Given the description of an element on the screen output the (x, y) to click on. 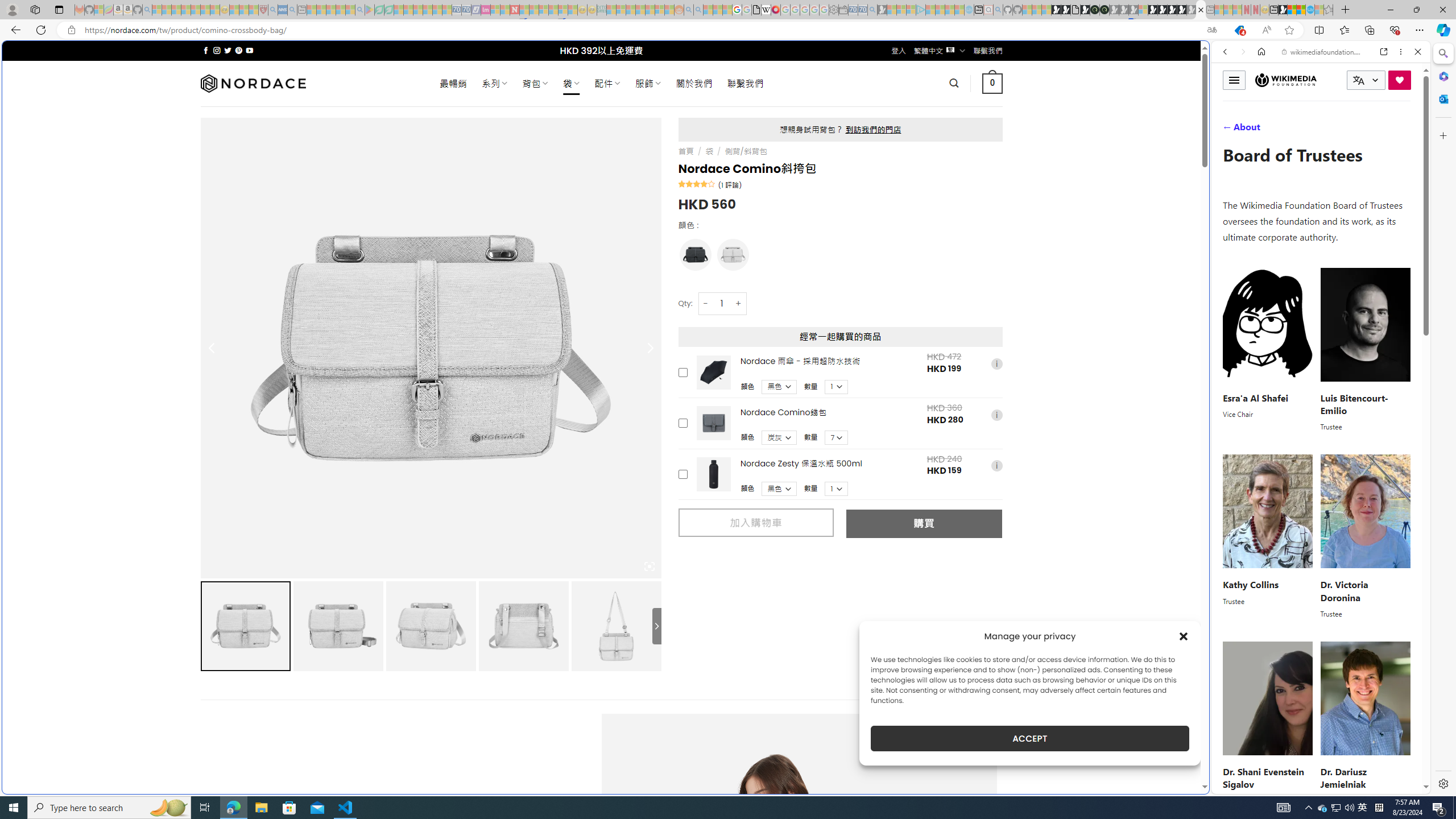
utah sues federal government - Search (922, 389)
Add this product to cart (682, 474)
MediaWiki (774, 9)
Class: i icon icon-translate language-switcher__icon (1358, 80)
